Given the description of an element on the screen output the (x, y) to click on. 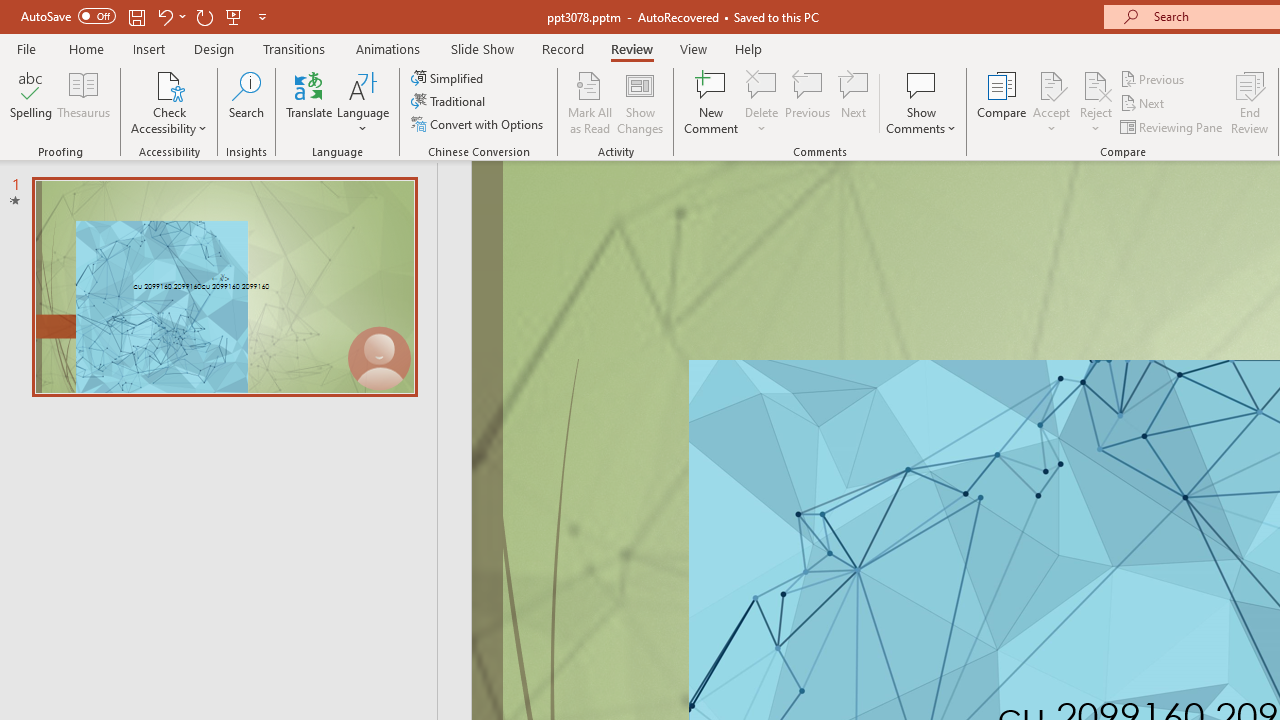
Save (136, 15)
Redo (204, 15)
File Tab (26, 48)
From Beginning (234, 15)
AutoSave (68, 16)
Transitions (294, 48)
Translate (309, 102)
Spelling... (31, 102)
Delete (762, 84)
Slide (224, 286)
Next (1144, 103)
